Given the description of an element on the screen output the (x, y) to click on. 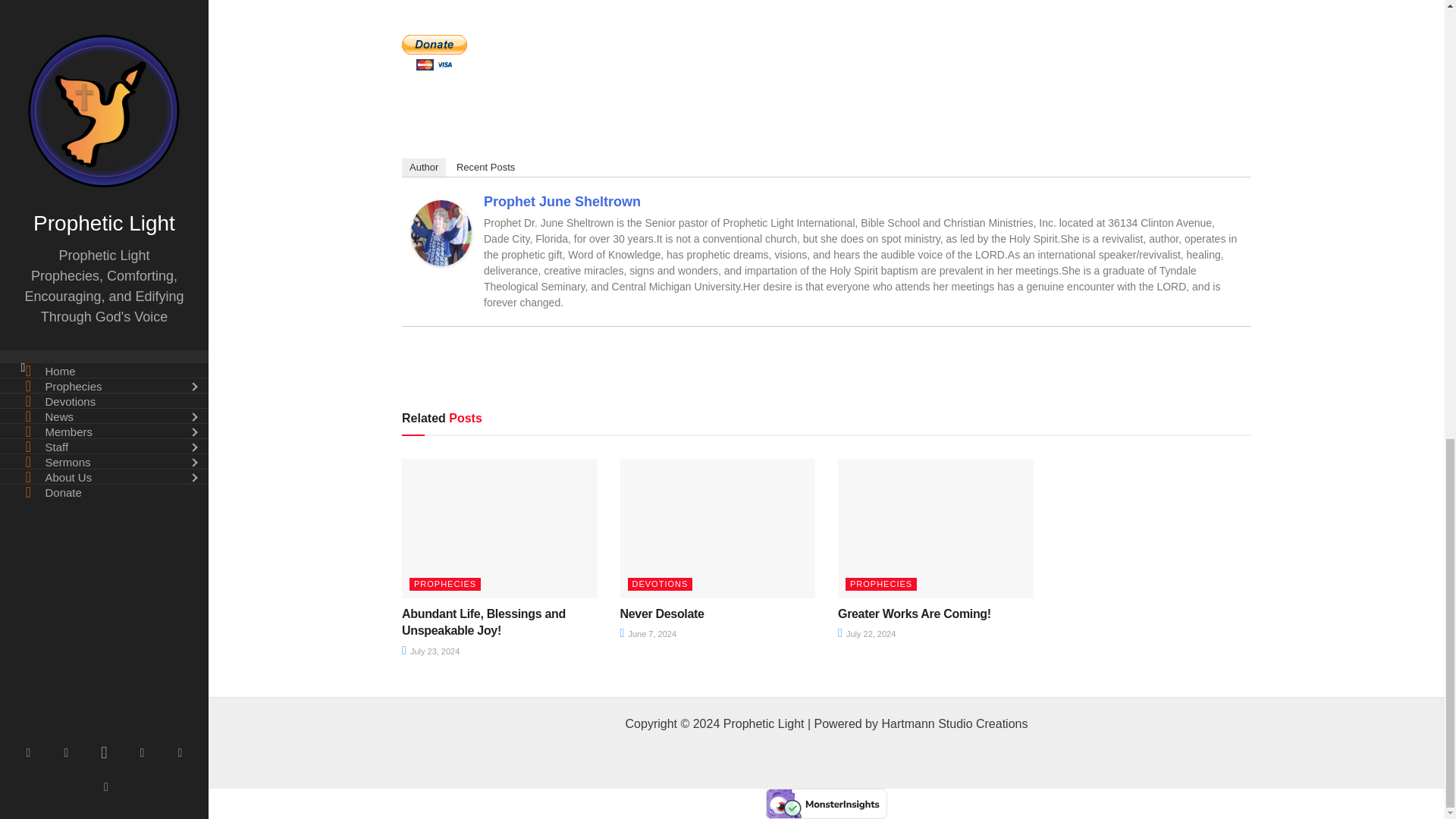
Prophet June Sheltrown (440, 232)
